Given the description of an element on the screen output the (x, y) to click on. 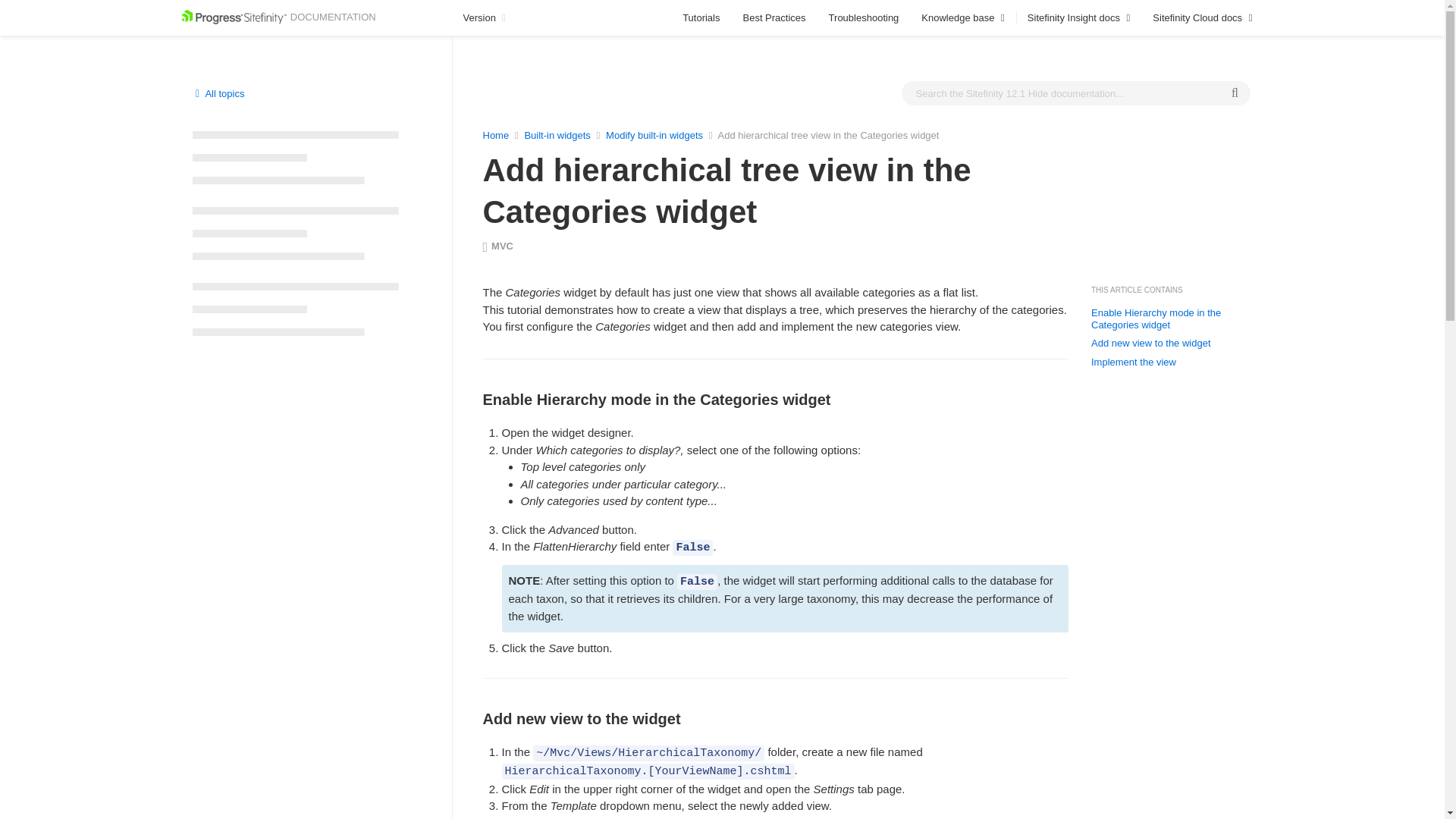
Troubleshooting (863, 18)
All topics (218, 93)
Add new view to the widget (1150, 343)
Enable Hierarchy mode in the Categories widget  (1166, 318)
Sitefinity Cloud docs (1202, 18)
Modify built-in widgets (655, 134)
Version (486, 18)
Search (1234, 93)
Tutorials (700, 18)
Knowledge base (963, 18)
Built-in widgets (558, 134)
Sitefinity Insight docs (1078, 18)
DOCUMENTATION (277, 16)
Home (494, 134)
Best Practices (773, 18)
